Given the description of an element on the screen output the (x, y) to click on. 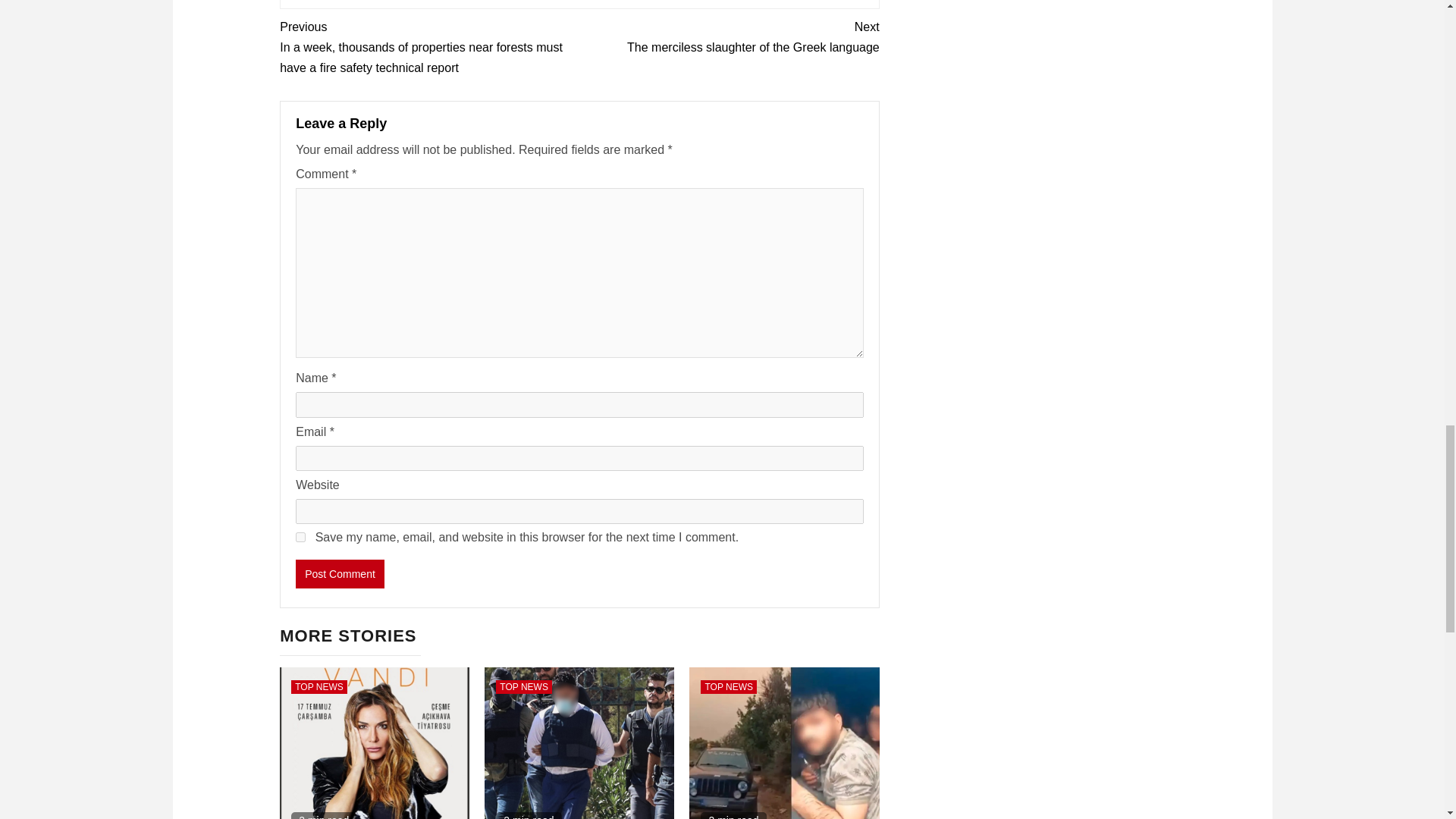
Post Comment (729, 36)
TOP NEWS (339, 573)
Post Comment (319, 686)
TOP NEWS (339, 573)
TOP NEWS (728, 686)
yes (523, 686)
